Given the description of an element on the screen output the (x, y) to click on. 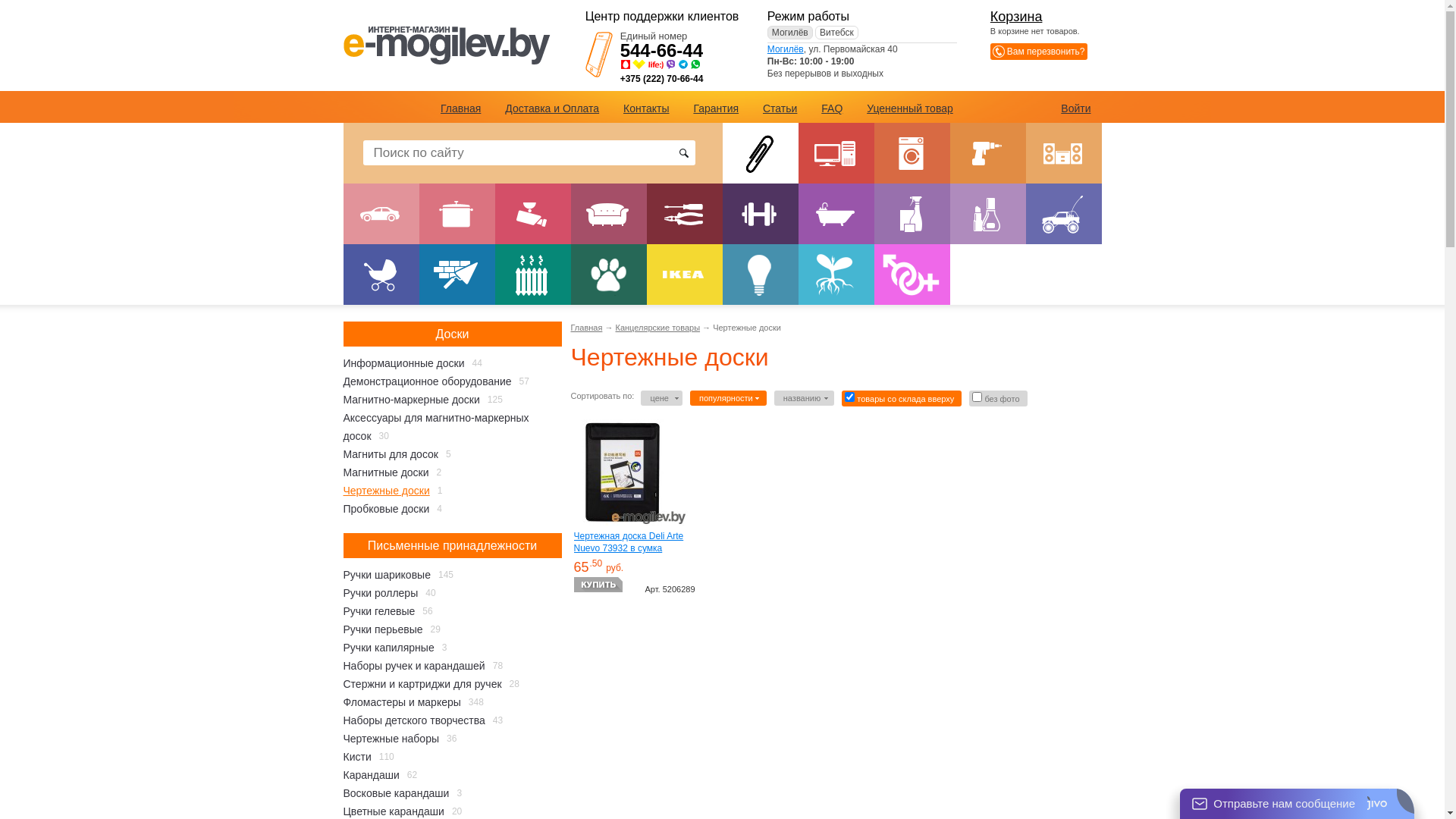
FAQ Element type: text (831, 108)
544-66-44 Element type: text (661, 50)
